Given the description of an element on the screen output the (x, y) to click on. 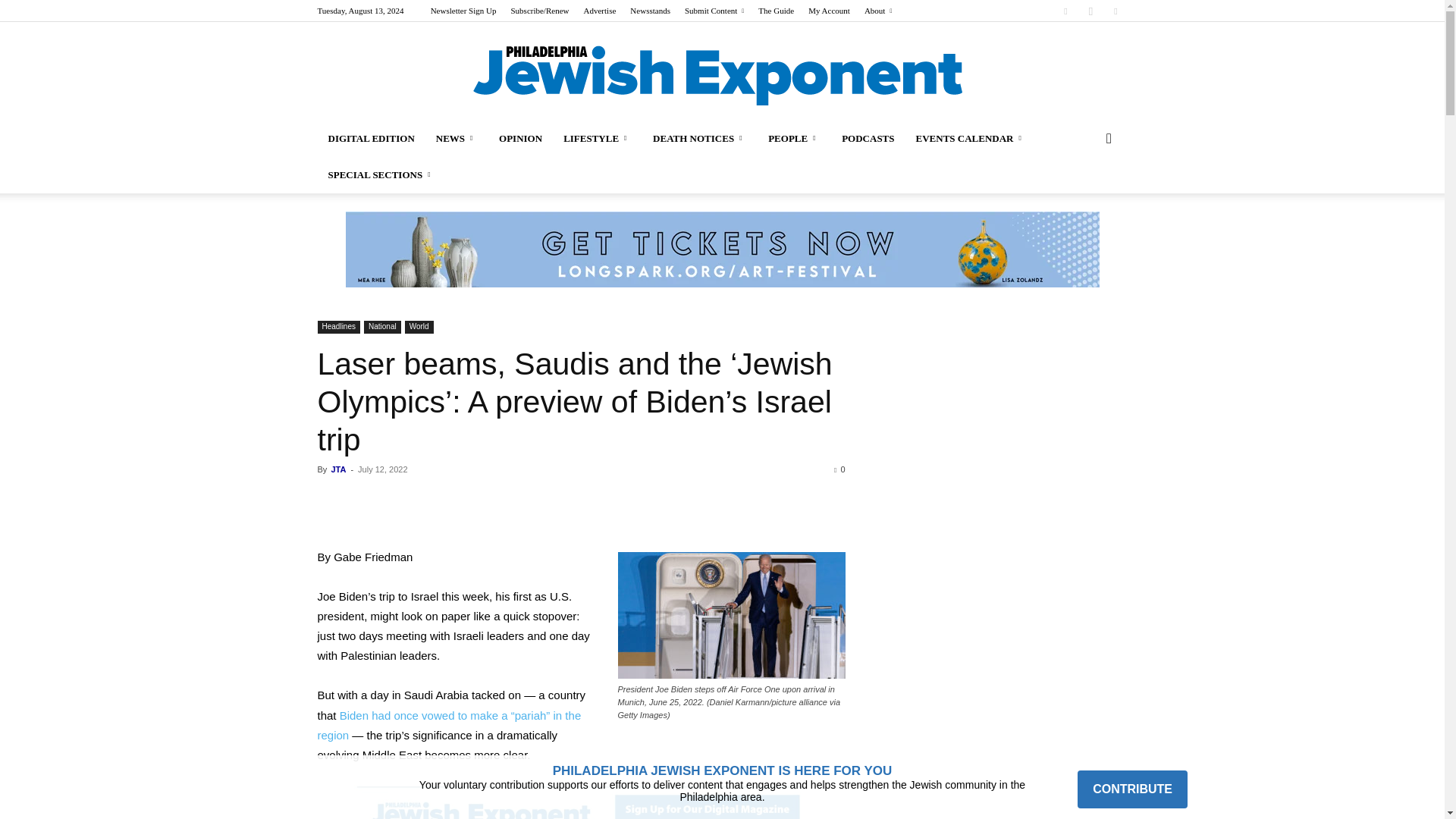
Twitter (1114, 10)
Newsletter Sign Up (463, 10)
Instagram (1090, 10)
Facebook (1065, 10)
